Given the description of an element on the screen output the (x, y) to click on. 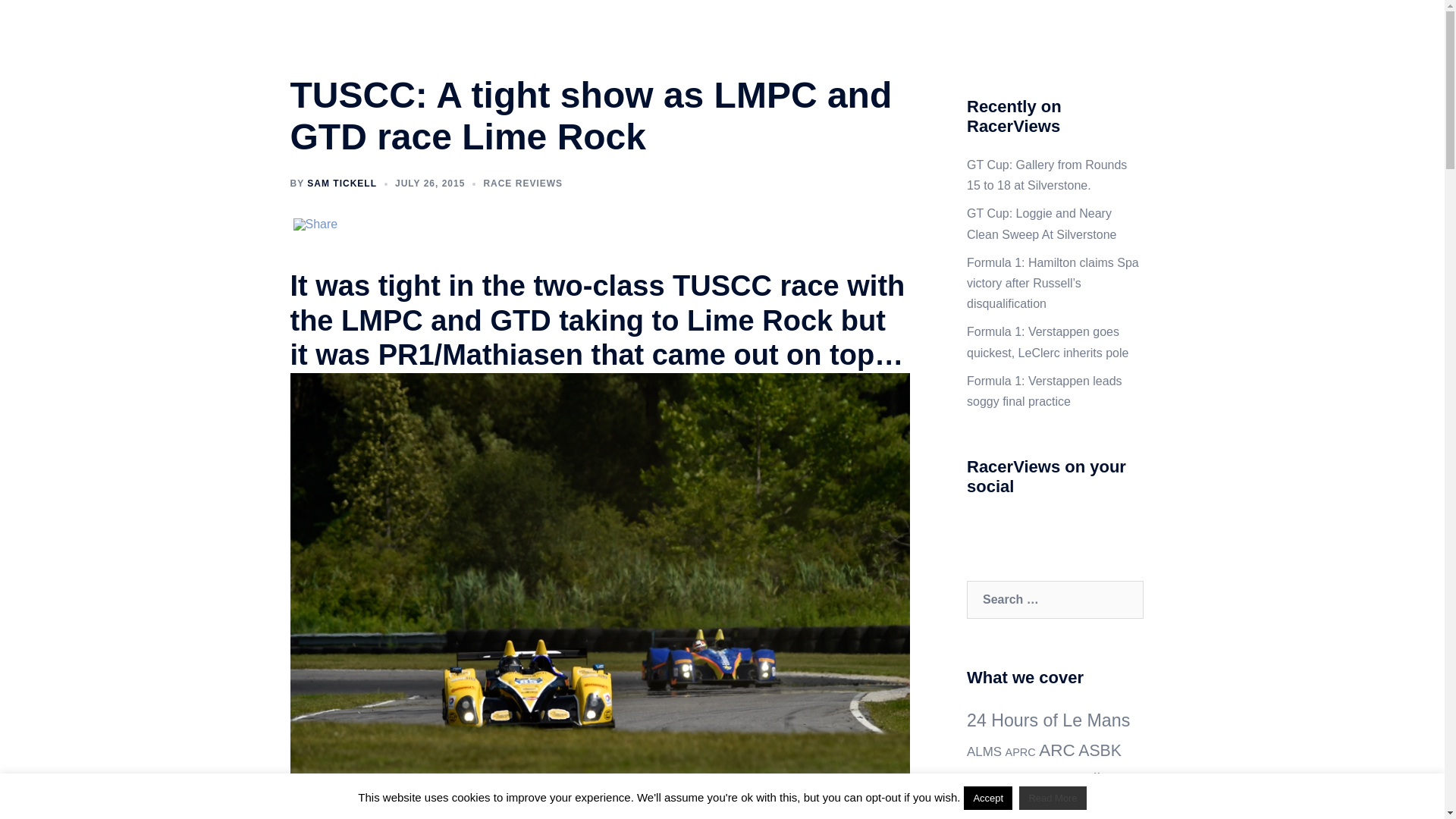
RacerViews (357, 29)
Media (836, 29)
Interviews (778, 29)
